Given the description of an element on the screen output the (x, y) to click on. 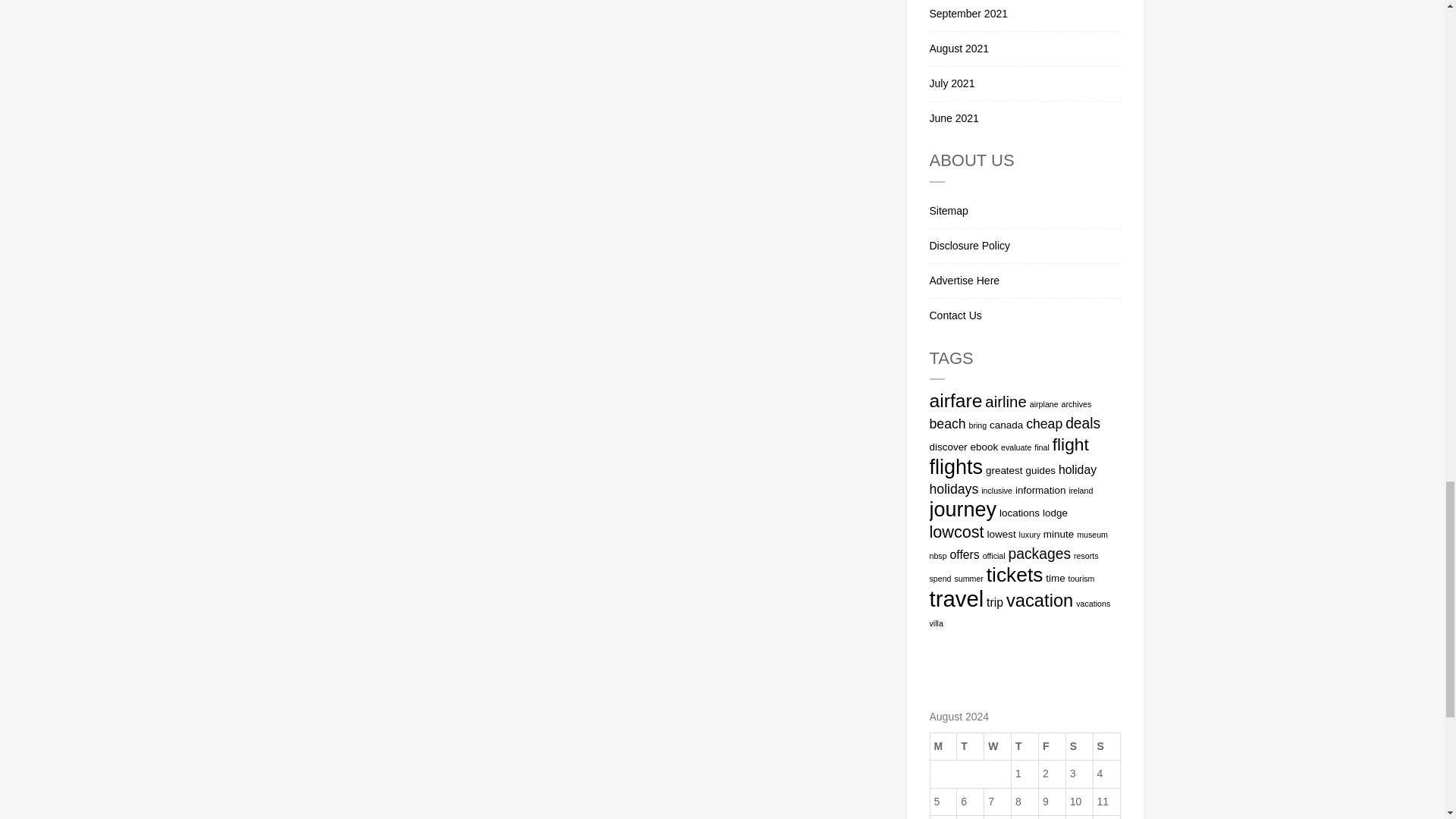
Saturday (1079, 746)
Friday (1051, 746)
Thursday (1025, 746)
Sunday (1106, 746)
Wednesday (997, 746)
Tuesday (970, 746)
Monday (943, 746)
